Given the description of an element on the screen output the (x, y) to click on. 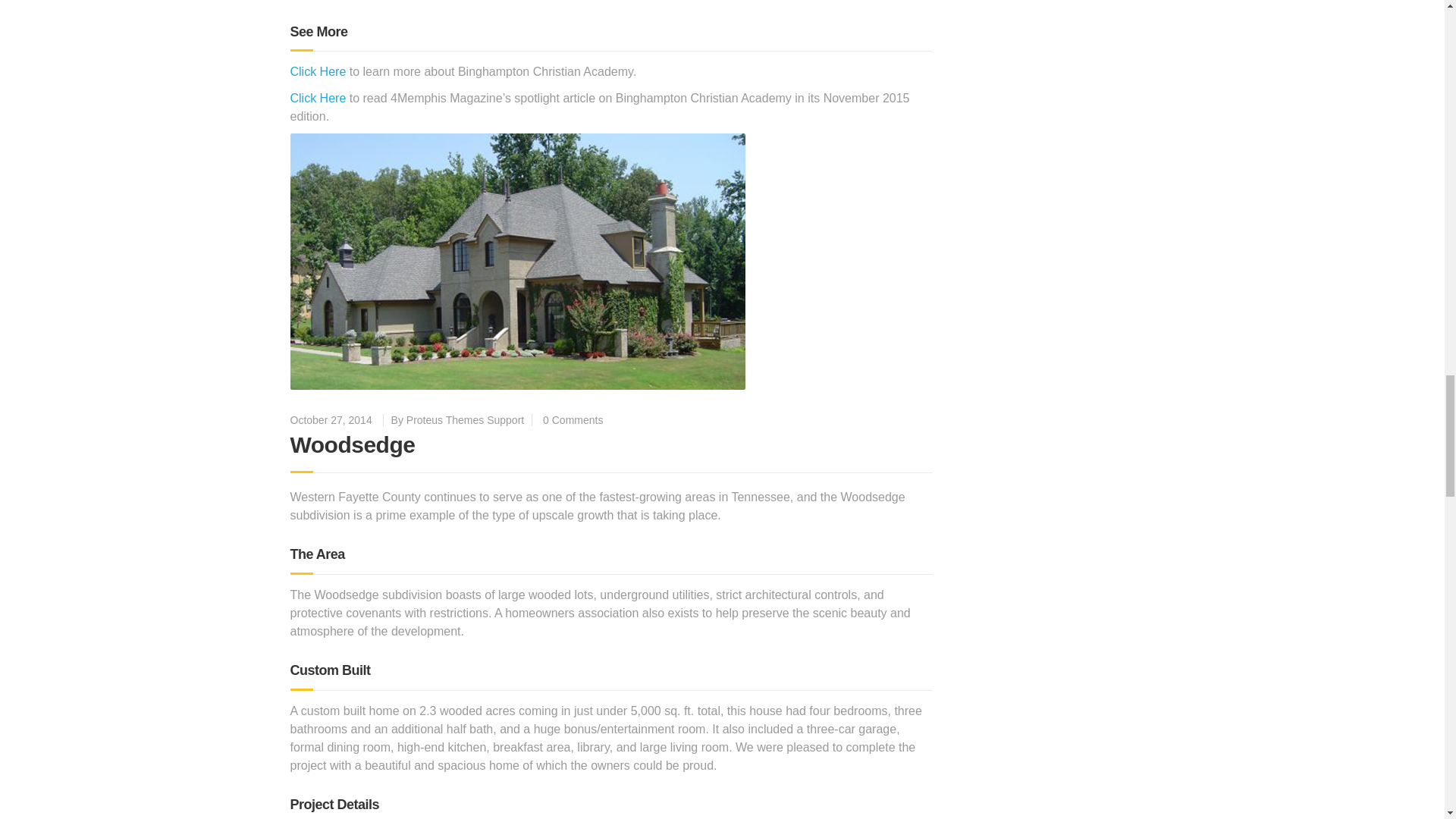
Click Here (317, 71)
Click Here (317, 97)
0 Comments (572, 419)
